Given the description of an element on the screen output the (x, y) to click on. 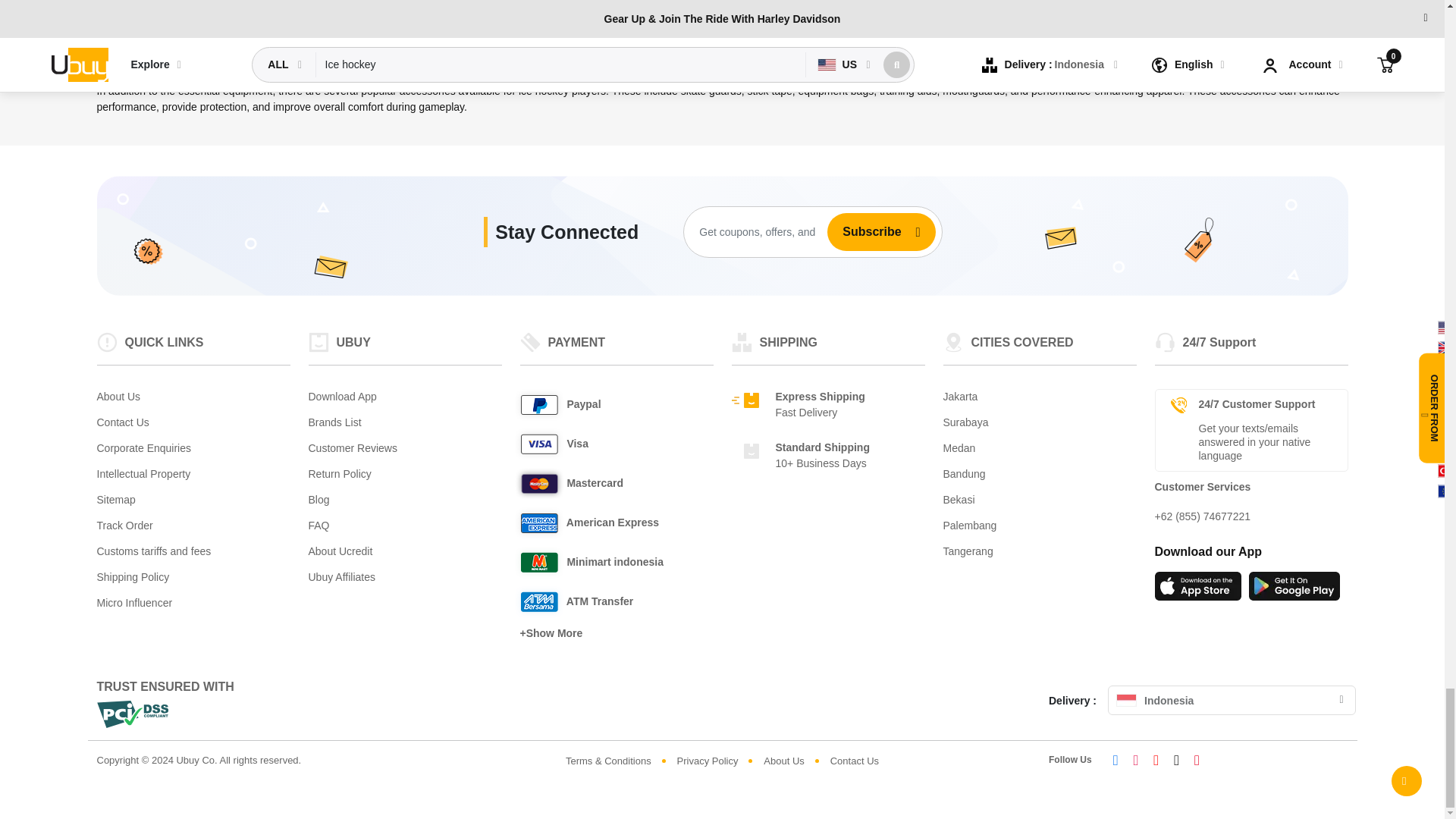
Subscribe (865, 232)
